Given the description of an element on the screen output the (x, y) to click on. 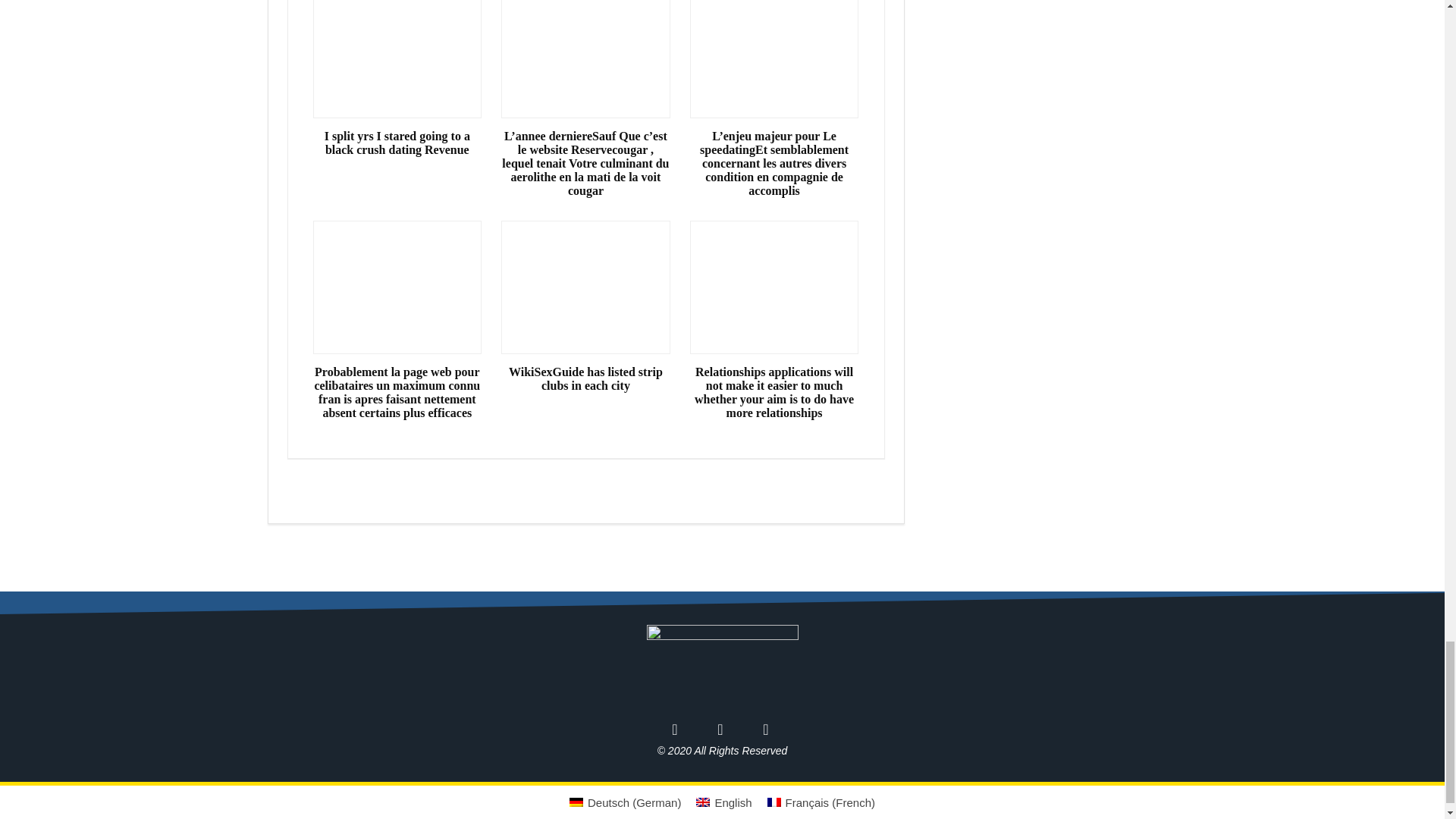
WikiSexGuide has listed strip clubs in each city (584, 379)
I split yrs I stared going to a black crush dating Revenue (397, 143)
I split yrs I stared going to a black crush dating Revenue (397, 143)
